Given the description of an element on the screen output the (x, y) to click on. 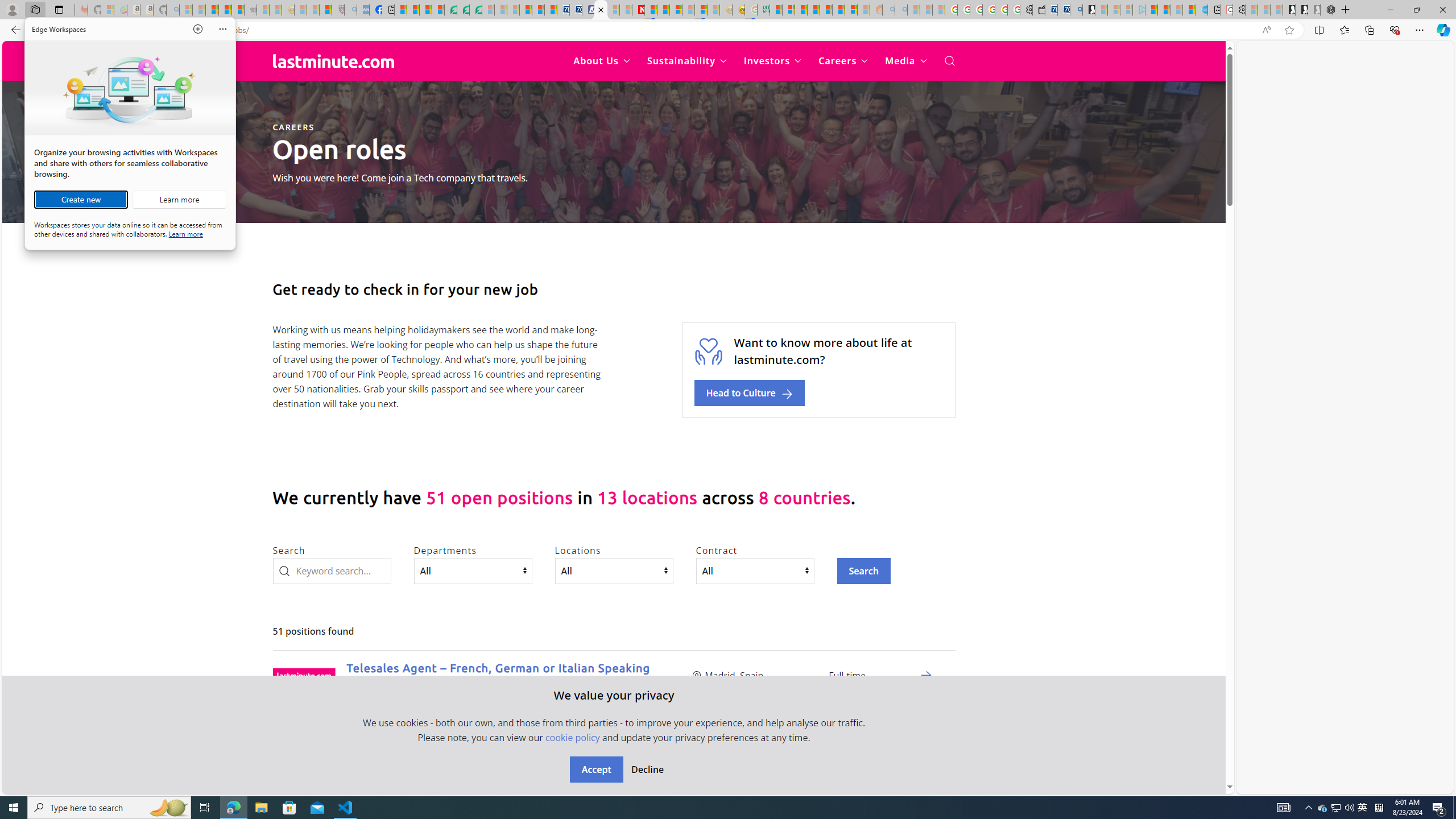
Full Stack Engineer (401, 768)
Running applications (700, 807)
